Given the description of an element on the screen output the (x, y) to click on. 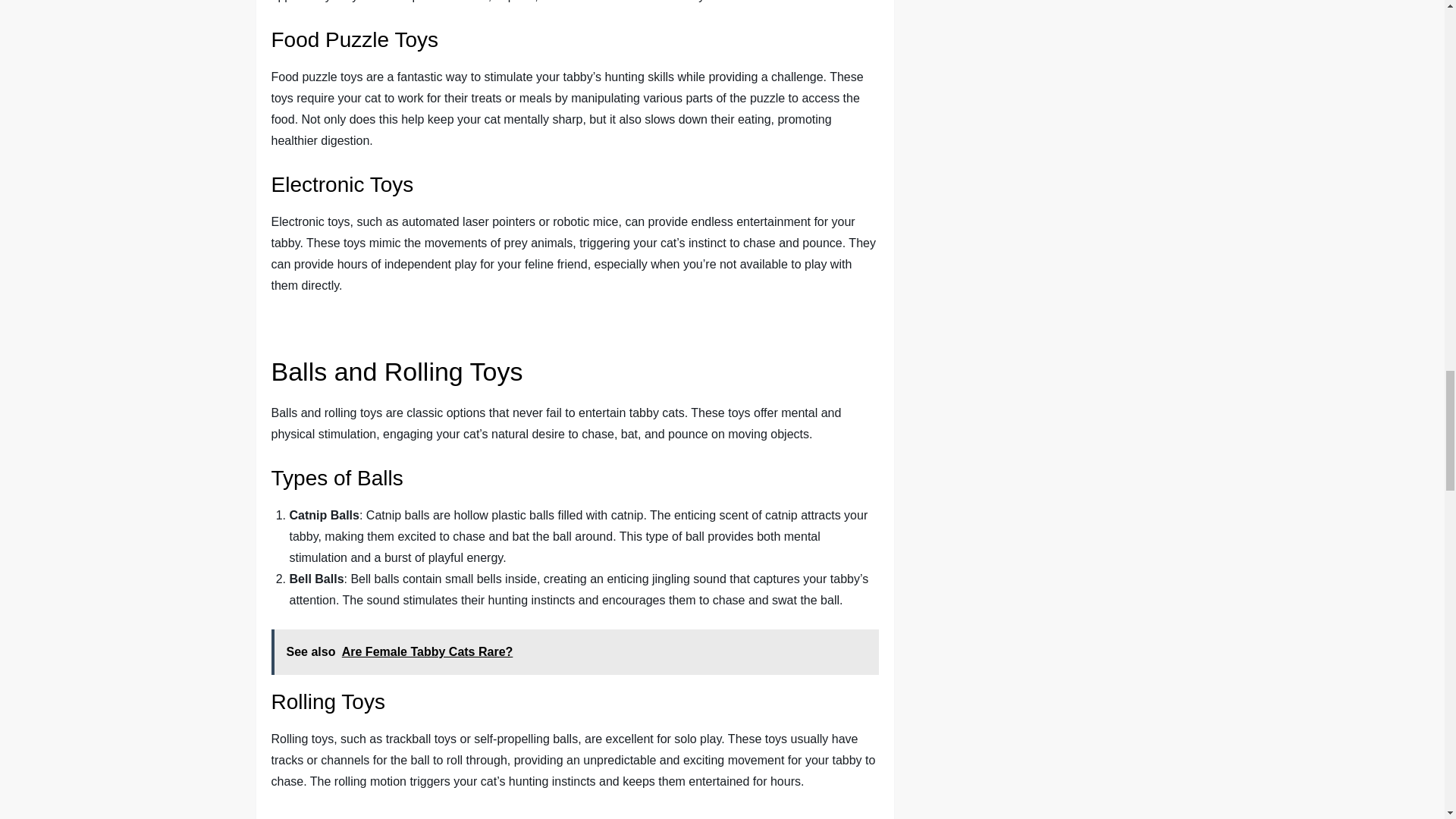
See also  Are Female Tabby Cats Rare? (574, 651)
